Given the description of an element on the screen output the (x, y) to click on. 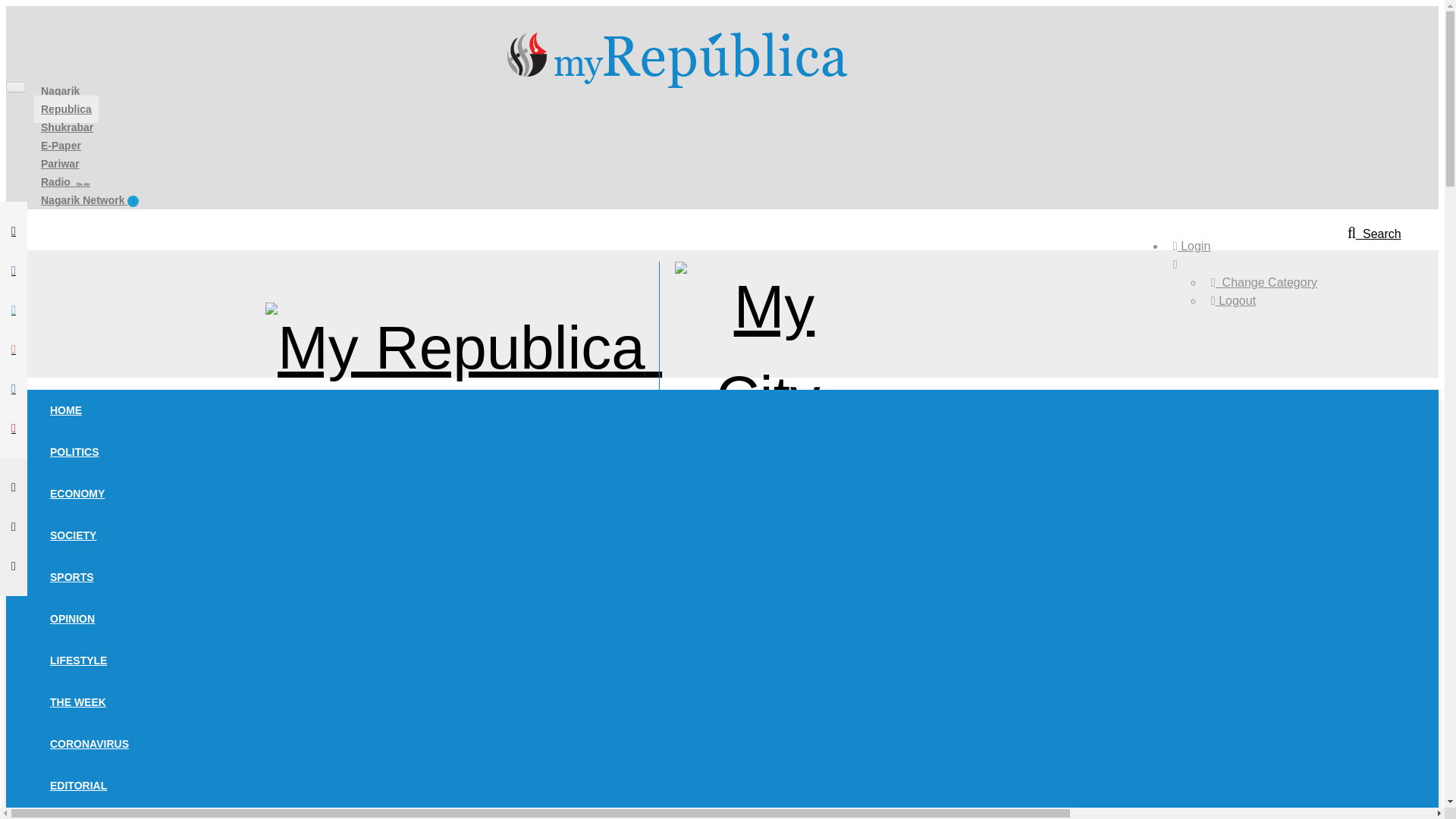
POLITICS (74, 451)
OPINION (72, 618)
ECONOMY (76, 493)
Shukrabar (66, 126)
HOME (65, 410)
Query Your News (1374, 233)
Logout (1233, 300)
Toggle navigation (15, 394)
SPORTS (71, 576)
Login (1191, 245)
